Given the description of an element on the screen output the (x, y) to click on. 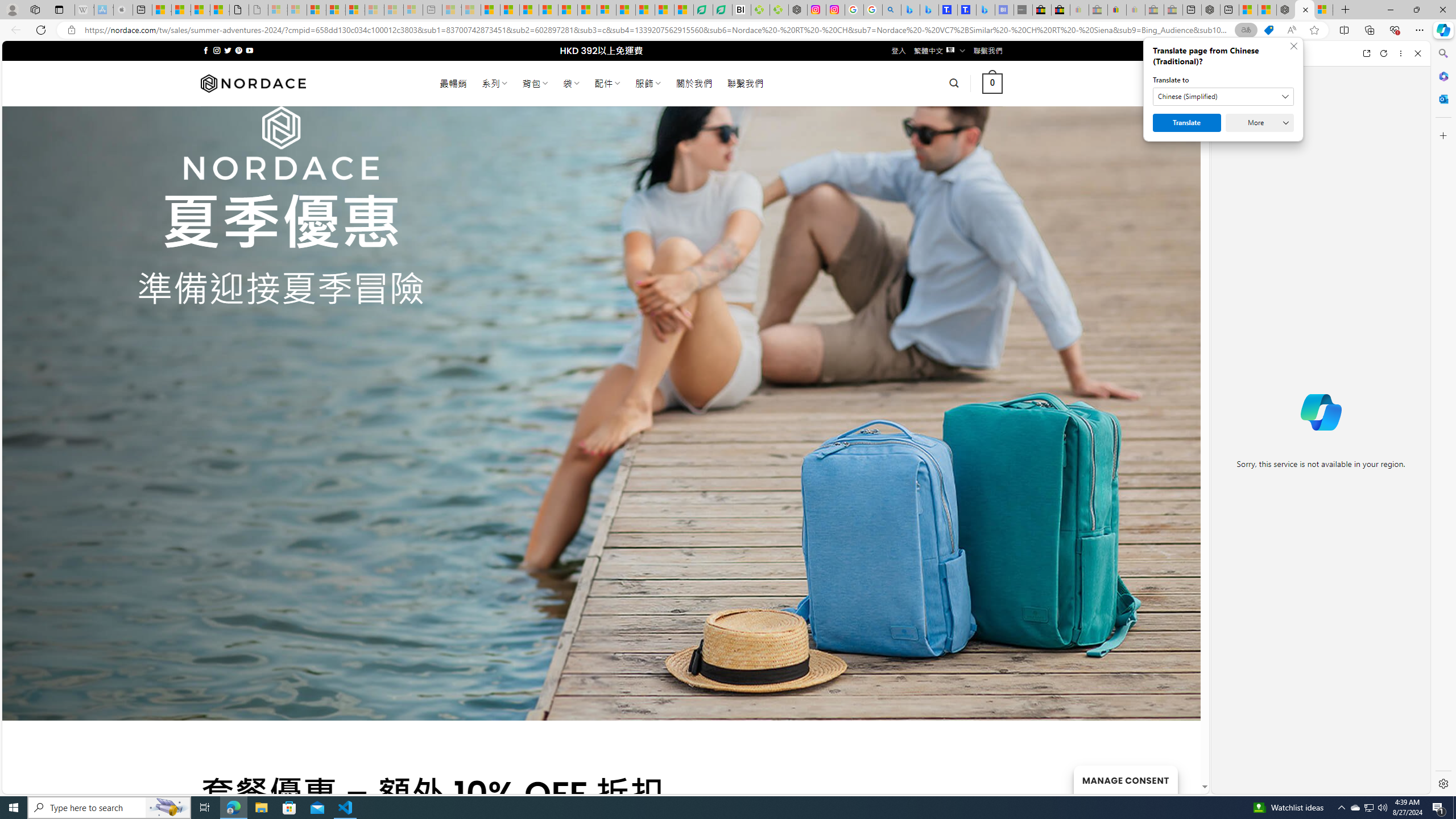
Open link in new tab (1366, 53)
Nordace - Nordace Edin Collection (797, 9)
Food and Drink - MSN (509, 9)
alabama high school quarterback dies - Search (891, 9)
Payments Terms of Use | eBay.com - Sleeping (1135, 9)
Chat (1231, 52)
Translate to (1223, 96)
